Given the description of an element on the screen output the (x, y) to click on. 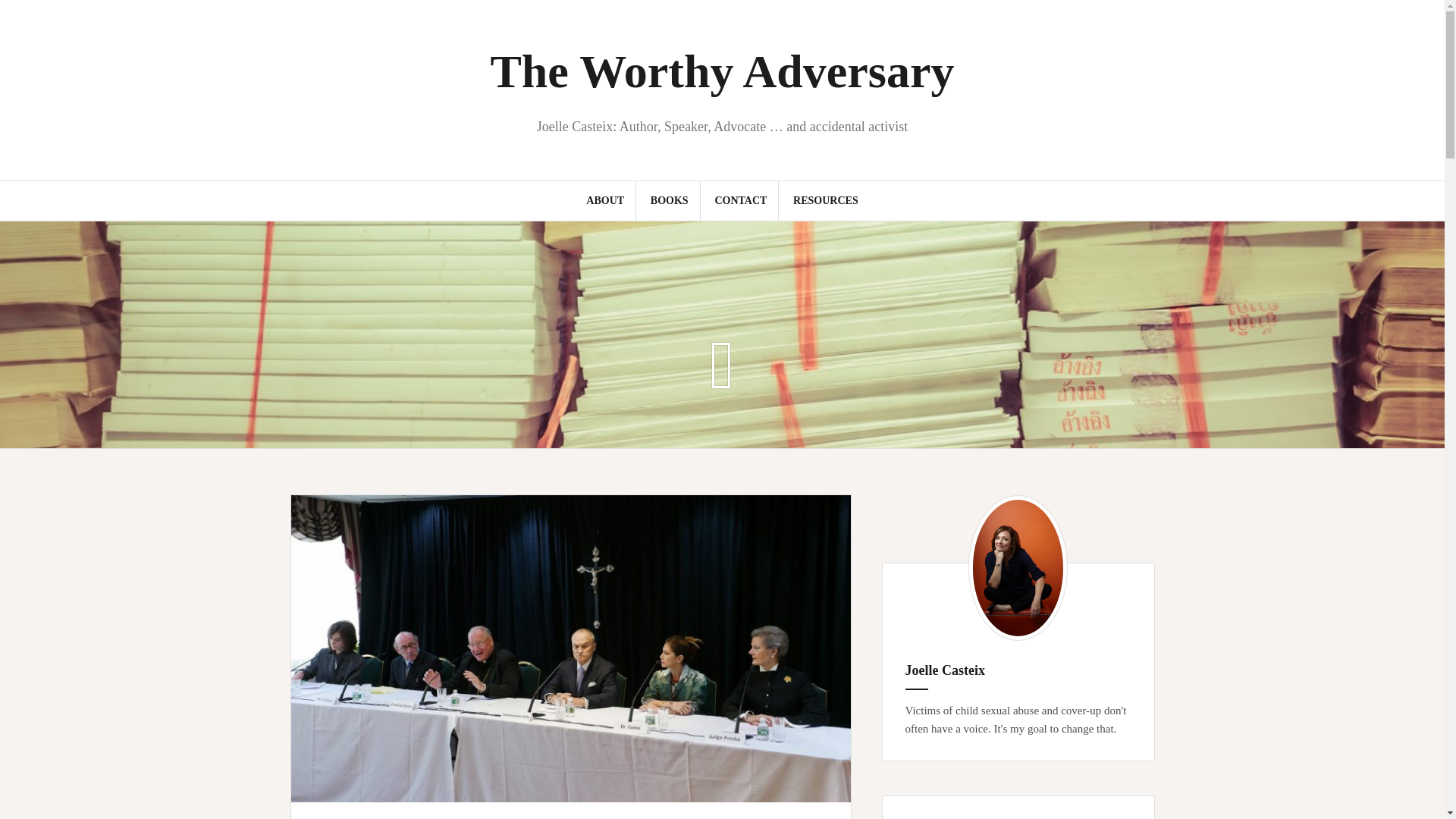
BOOKS (669, 200)
CONTACT (740, 200)
ABOUT (605, 200)
The Worthy Adversary (721, 71)
RESOURCES (826, 200)
Search (28, 20)
